Given the description of an element on the screen output the (x, y) to click on. 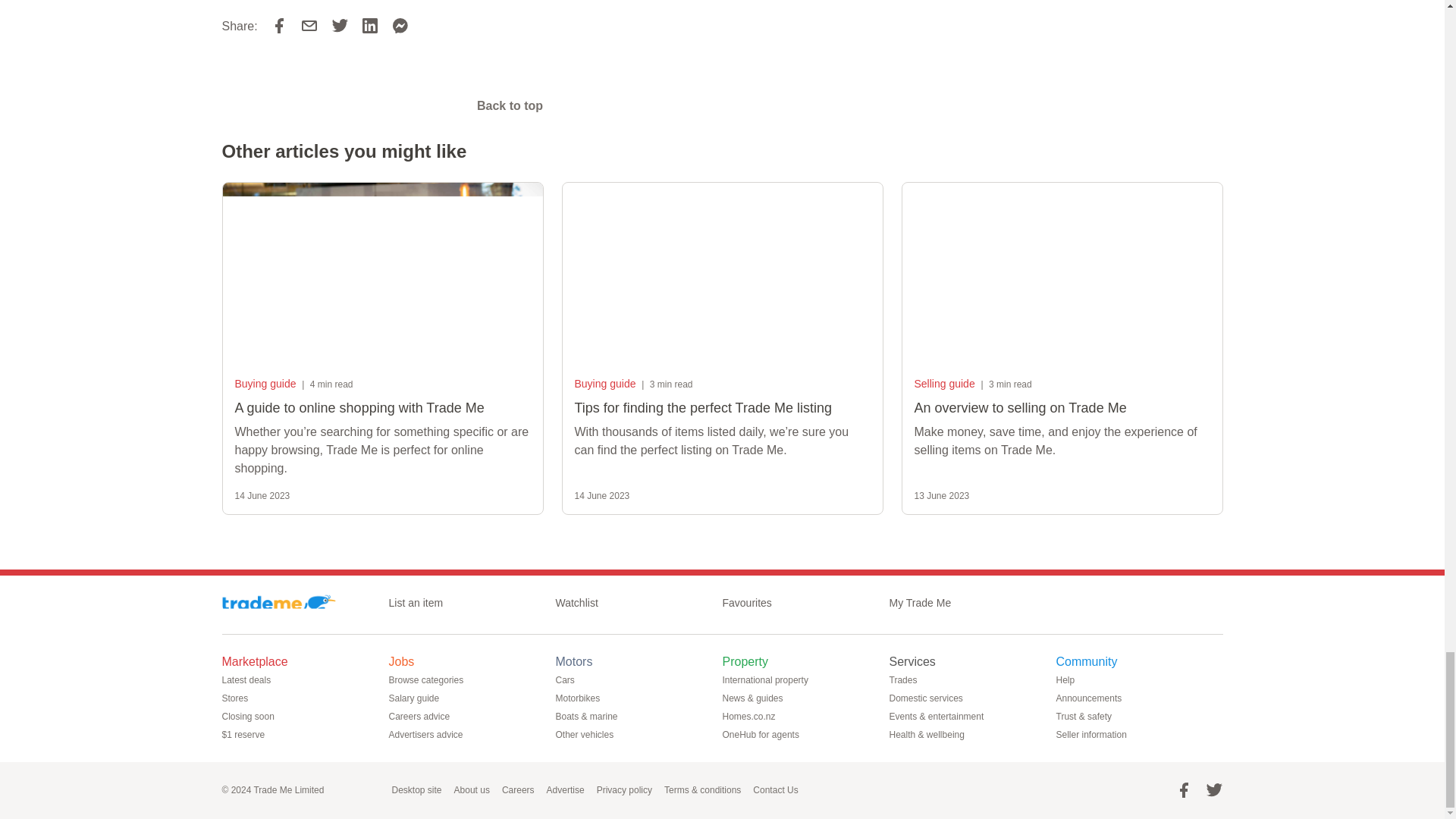
Share on Messenger (400, 25)
Jobs (407, 661)
Browse categories (432, 679)
List an item (421, 602)
Share on Facebook (278, 25)
Share via email (308, 25)
My Trade Me (925, 602)
Careers advice (424, 716)
Share on LinkedIn (369, 25)
Follow Trade Me on Twitter (1213, 790)
Share on Twitter (339, 25)
Back to top (510, 105)
Share via email (314, 25)
Latest deals (251, 679)
Share on Twitter (345, 25)
